Given the description of an element on the screen output the (x, y) to click on. 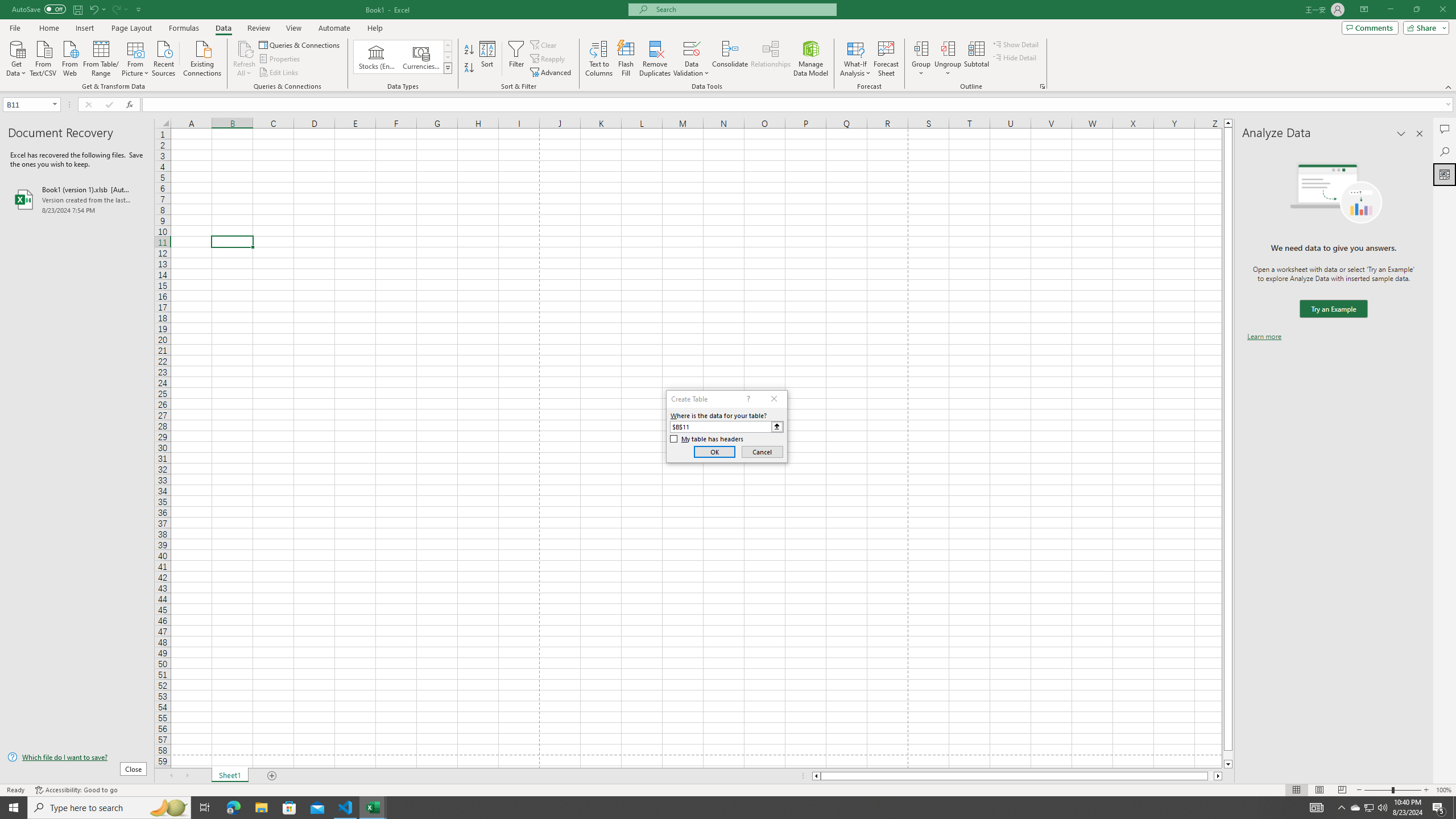
From Picture (135, 57)
More Options (947, 68)
Home (48, 28)
Class: NetUIScrollBar (1016, 775)
Scroll Left (171, 775)
Microsoft search (742, 9)
Task Pane Options (1400, 133)
Zoom (1392, 790)
Formulas (184, 28)
View (293, 28)
Accessibility Checker Accessibility: Good to go (76, 790)
Redo (115, 9)
Page Layout (1318, 790)
From Table/Range (100, 57)
AutomationID: ConvertToLinkedEntity (403, 56)
